Given the description of an element on the screen output the (x, y) to click on. 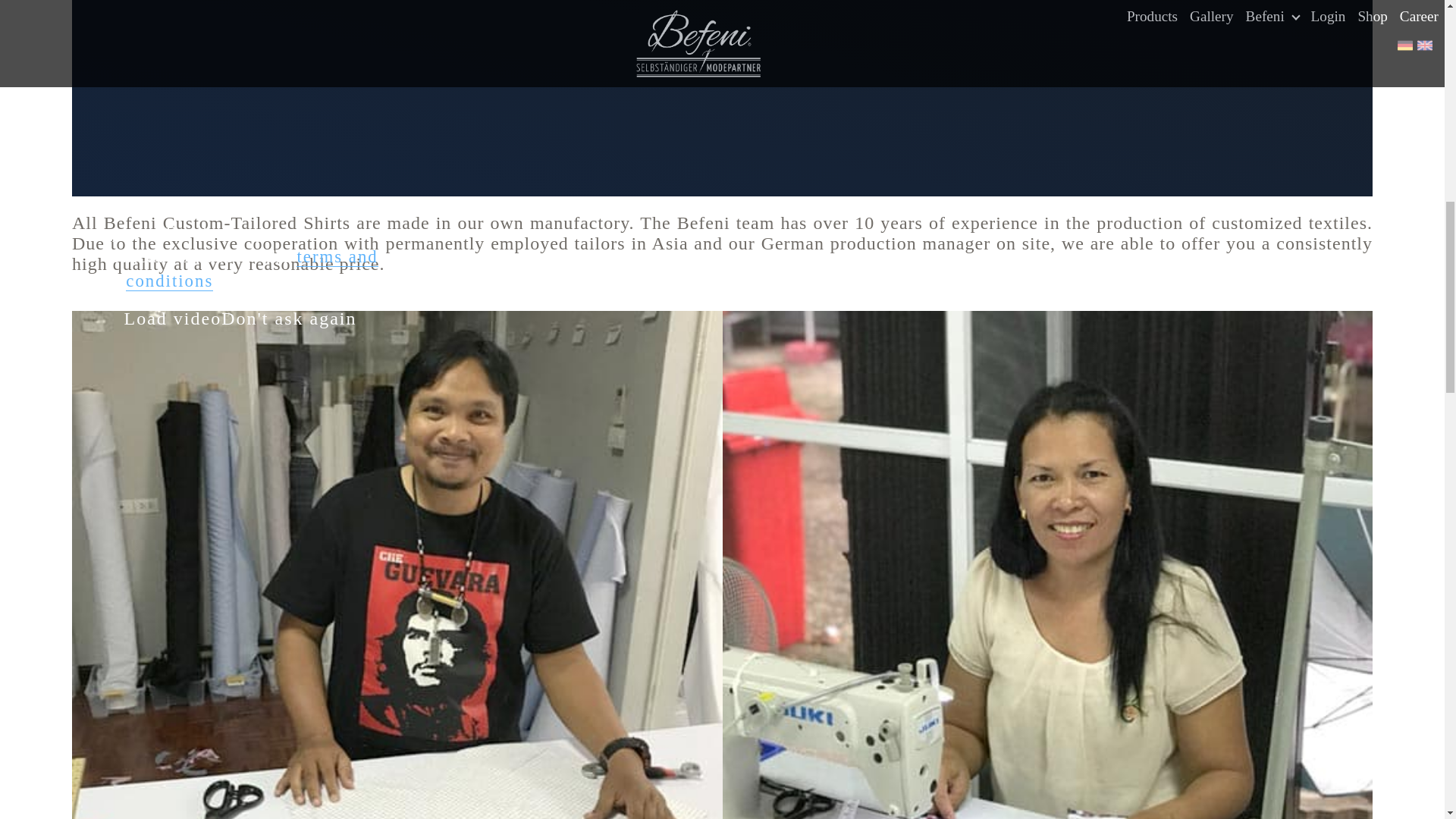
Don't ask again (288, 318)
Load video (172, 318)
Terms and conditions (251, 269)
terms and conditions (251, 269)
